Given the description of an element on the screen output the (x, y) to click on. 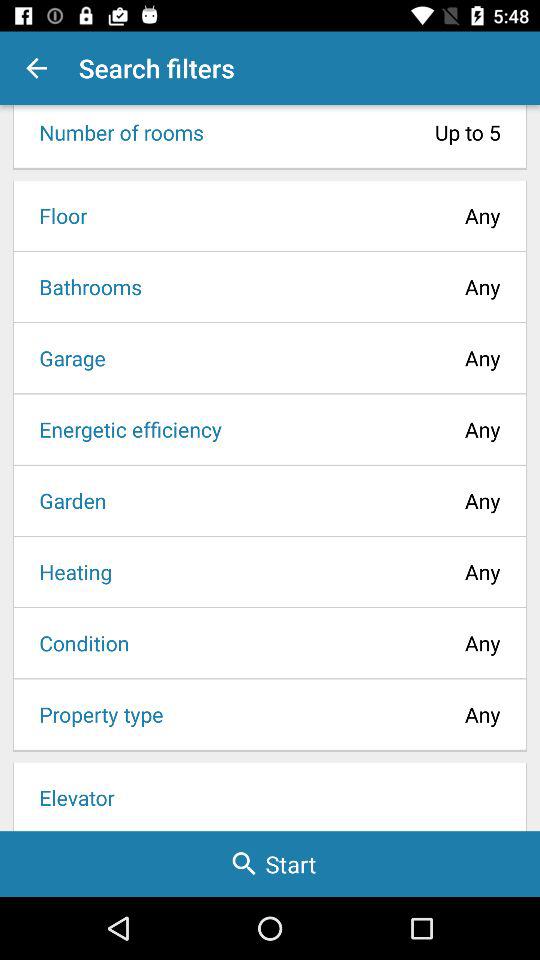
choose the item above the energetic efficiency item (65, 357)
